Given the description of an element on the screen output the (x, y) to click on. 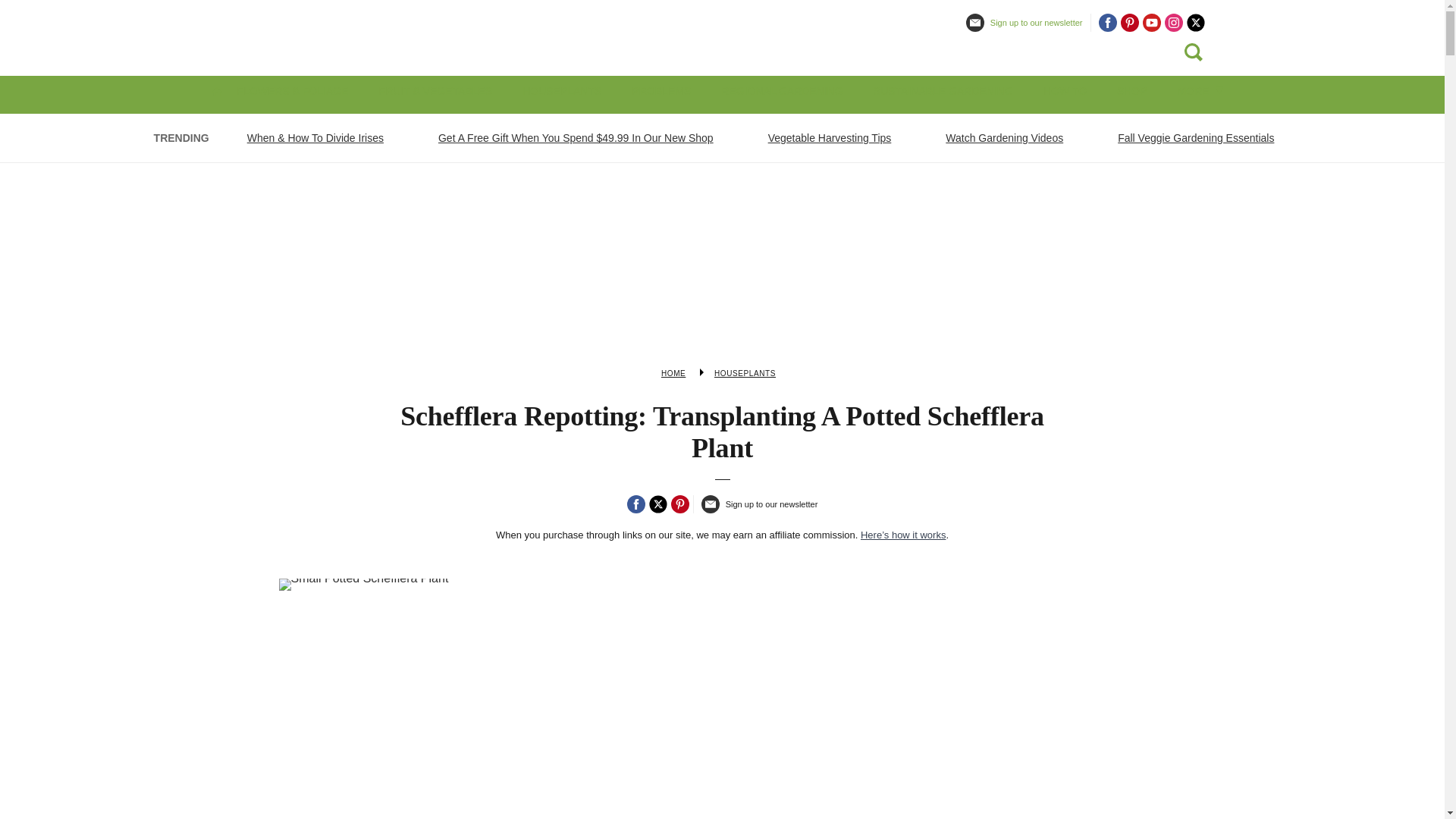
SUSTAINABLE GARDENING (943, 91)
REGIONAL GARDENING (781, 91)
PROBLEMS (660, 91)
HOUSEPLANTS (561, 91)
